Given the description of an element on the screen output the (x, y) to click on. 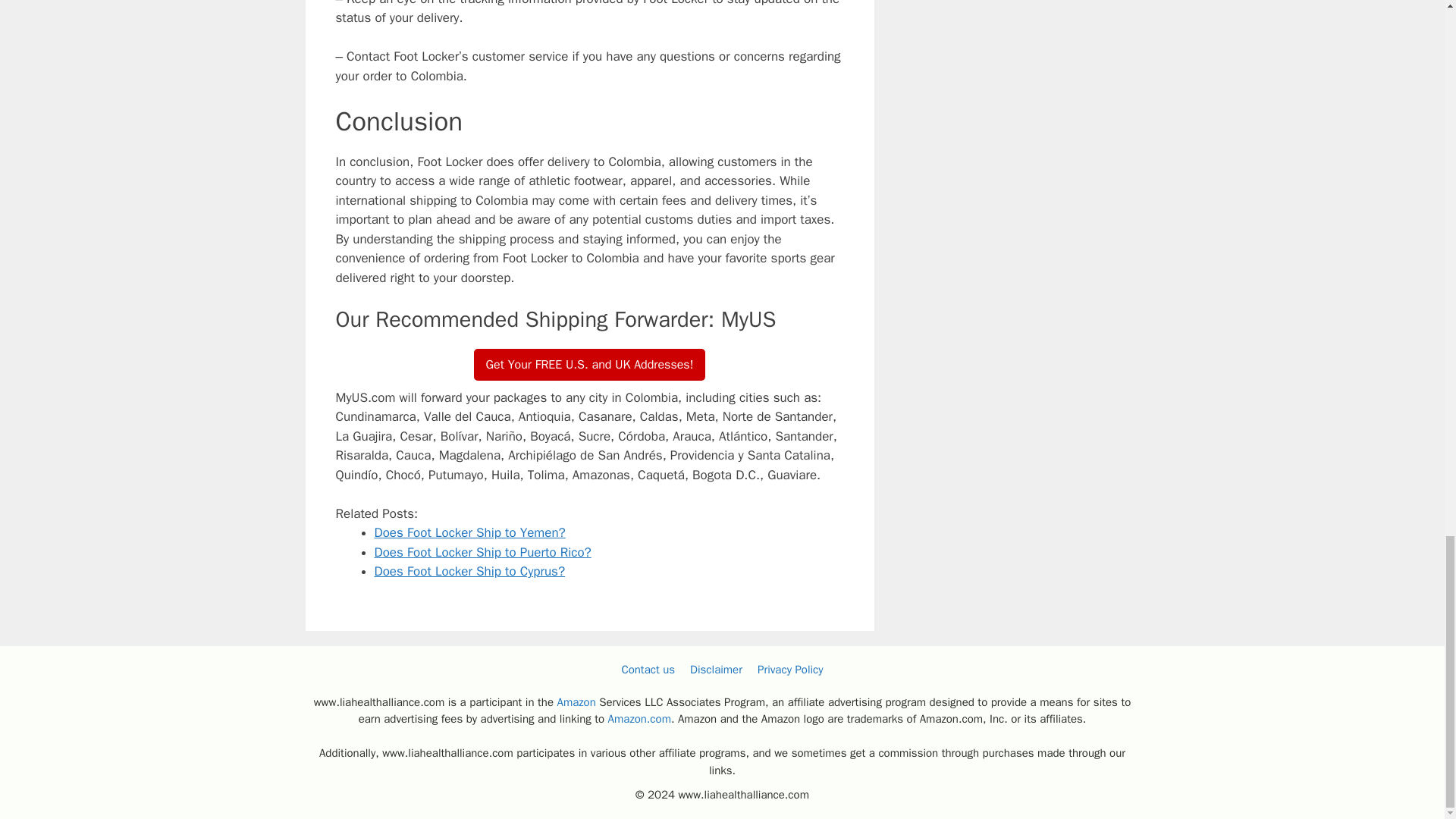
Privacy Policy (790, 669)
Contact us (648, 669)
Amazon (575, 702)
Amazon.com (639, 718)
Does Foot Locker Ship to Cyprus? (470, 571)
Disclaimer (716, 669)
Get Your FREE U.S. and UK Addresses! (590, 364)
Does Foot Locker Ship to Puerto Rico? (482, 552)
Does Foot Locker Ship to Yemen? (470, 532)
